Given the description of an element on the screen output the (x, y) to click on. 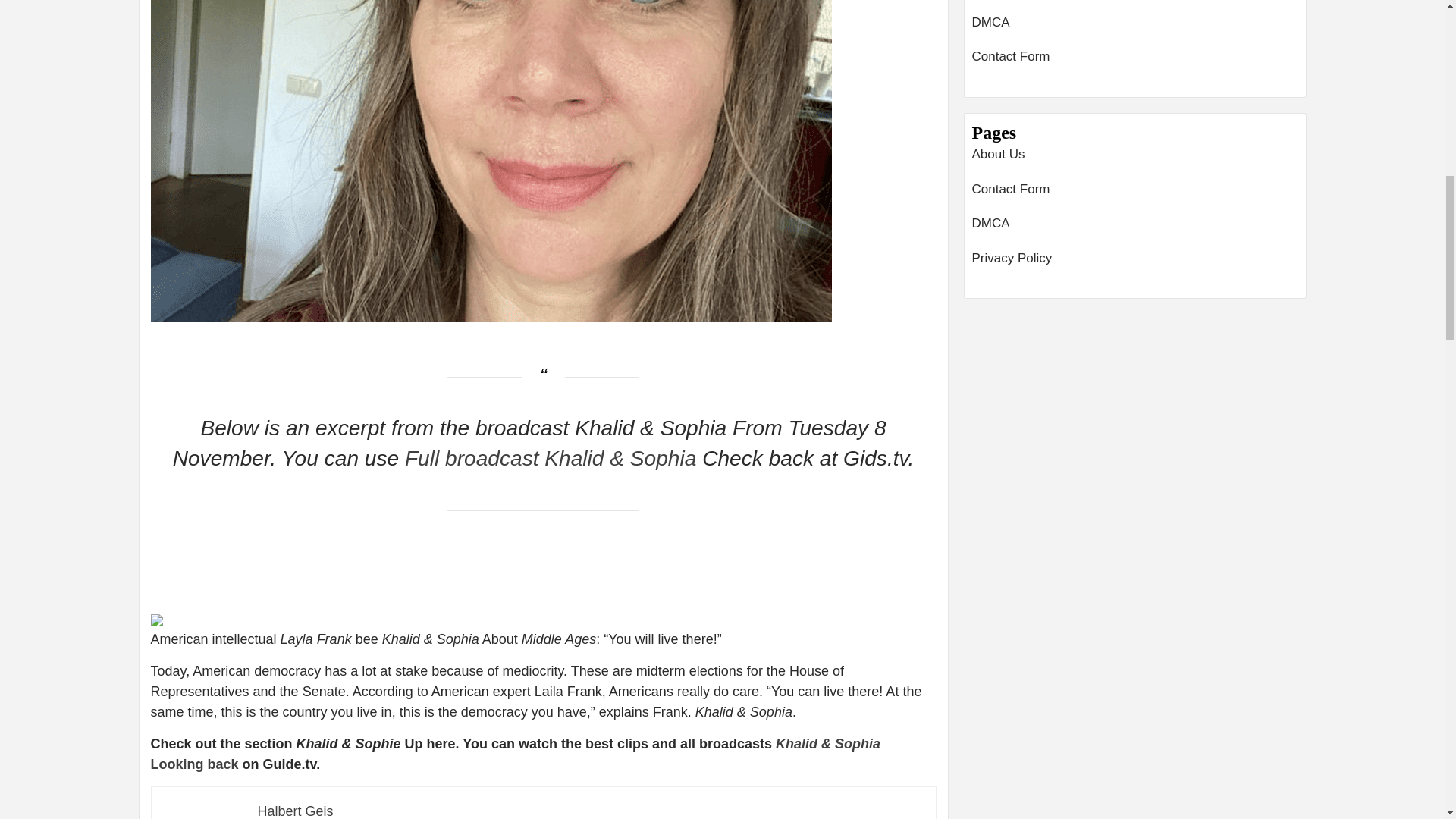
Halbert Geis (295, 811)
